Given the description of an element on the screen output the (x, y) to click on. 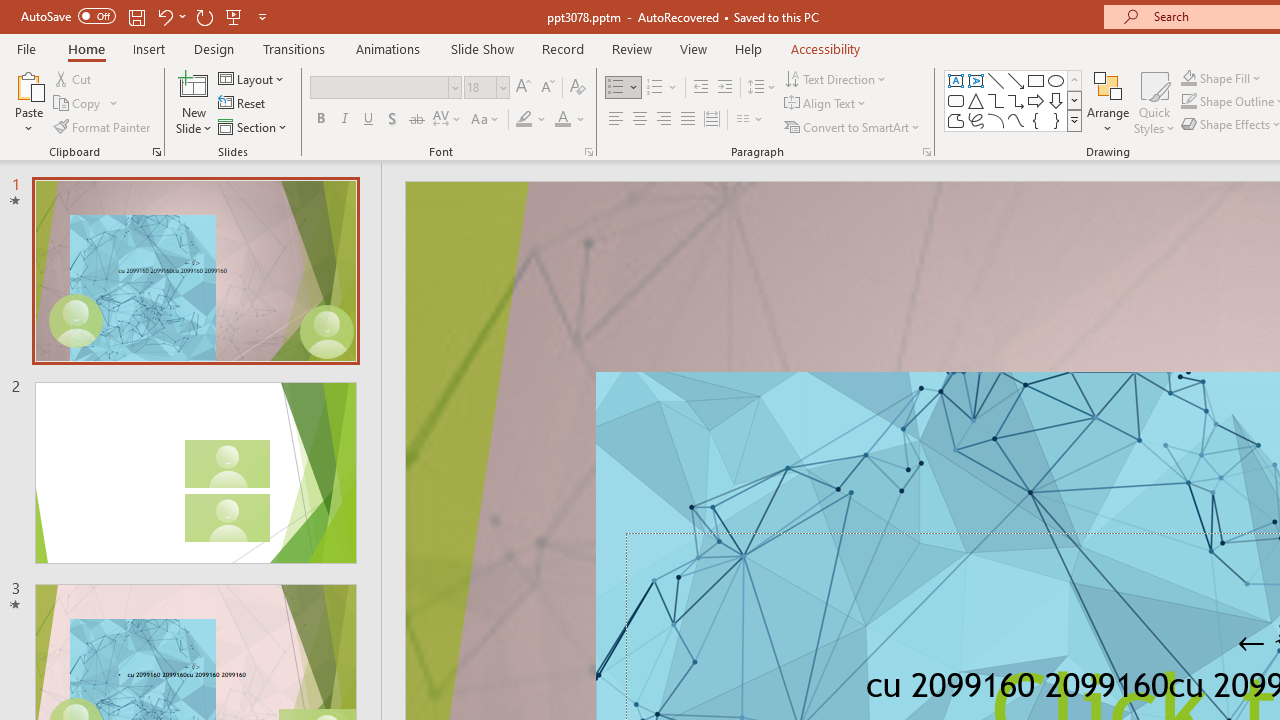
Shape Outline Green, Accent 1 (1188, 101)
